Given the description of an element on the screen output the (x, y) to click on. 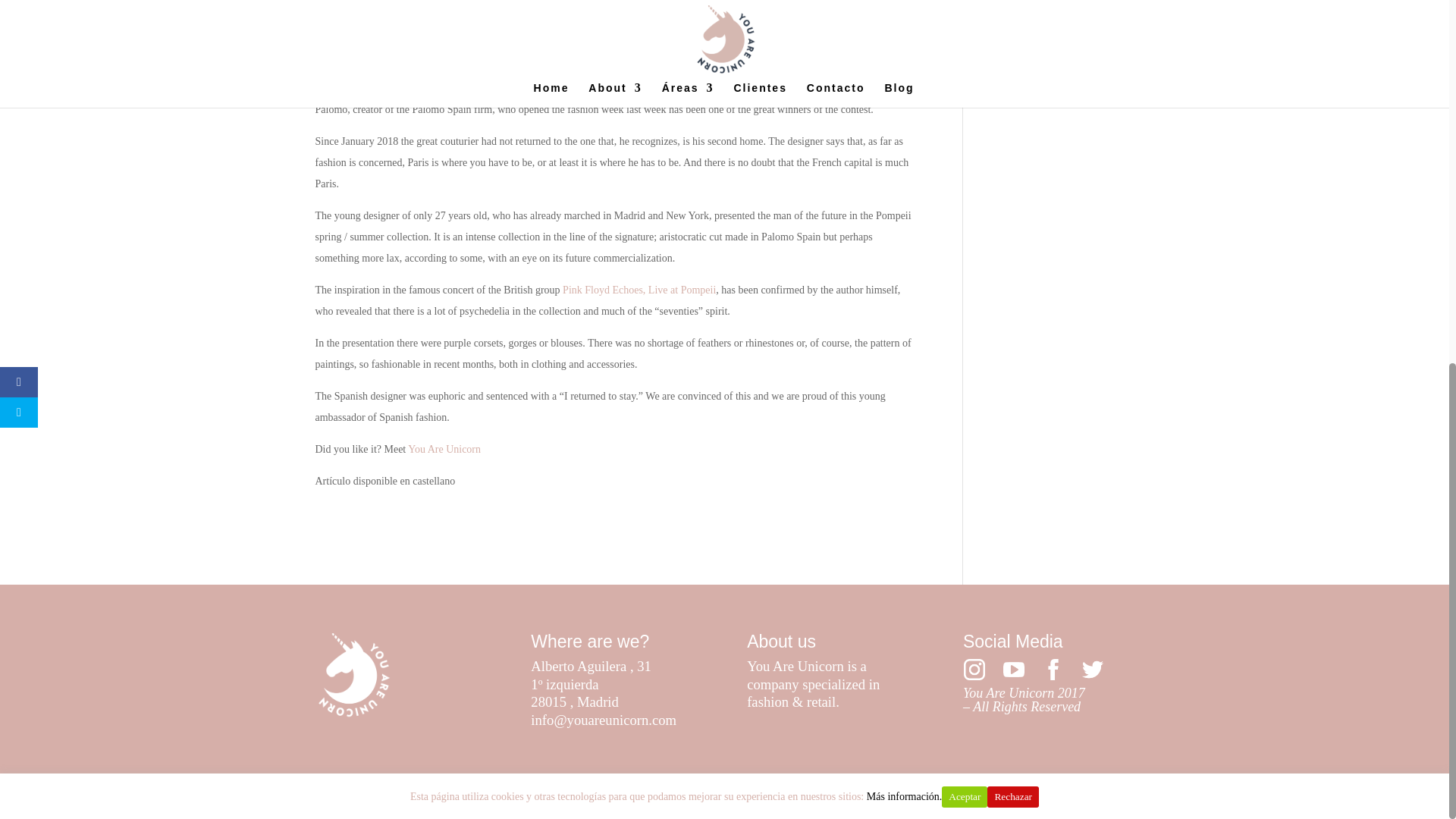
Acepto (1039, 145)
Pink Floyd Echoes, Live at Pompeii (639, 289)
Leer Mas (1088, 144)
You Are Unicorn (443, 449)
